Given the description of an element on the screen output the (x, y) to click on. 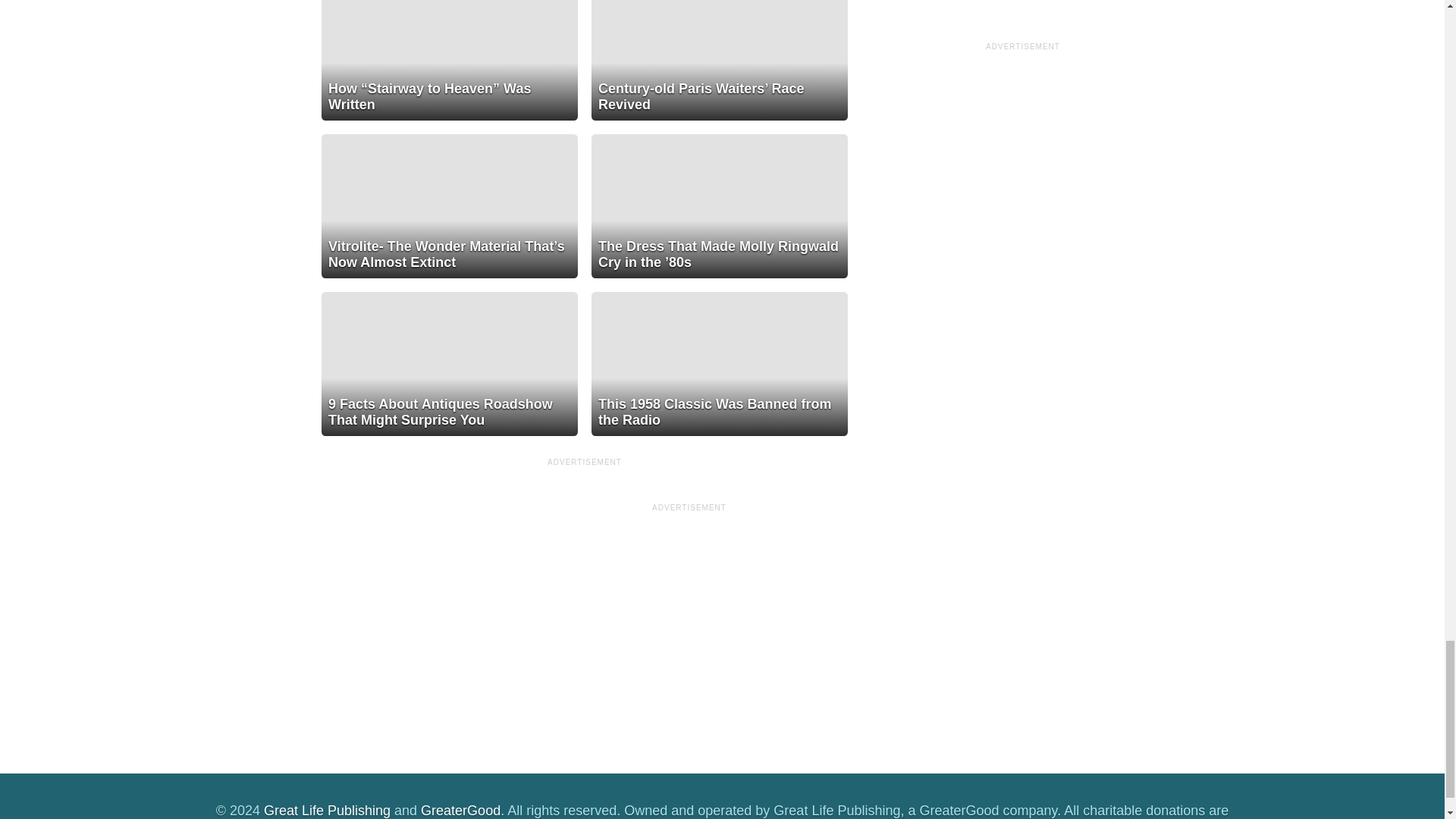
This 1958 Classic Was Banned from the Radio (719, 363)
9 Facts About Antiques Roadshow That Might Surprise You (449, 363)
GreaterGood (460, 810)
Great Life Publishing (326, 810)
